Given the description of an element on the screen output the (x, y) to click on. 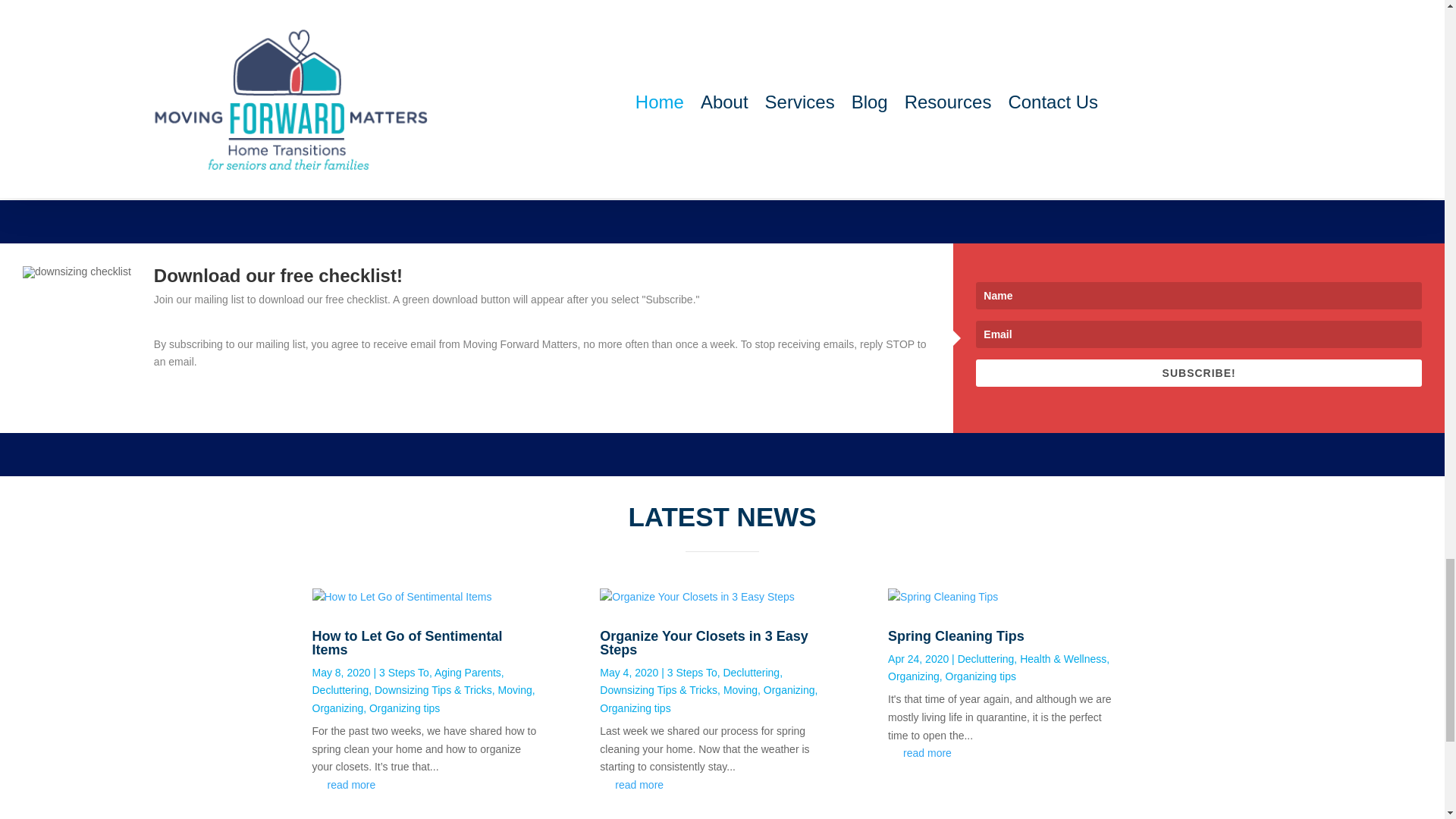
How to Let Go of Sentimental Items (407, 642)
SUBSCRIBE! (1198, 372)
SWS-Logo-V4-100 (505, 48)
3 Steps To (403, 671)
